Given the description of an element on the screen output the (x, y) to click on. 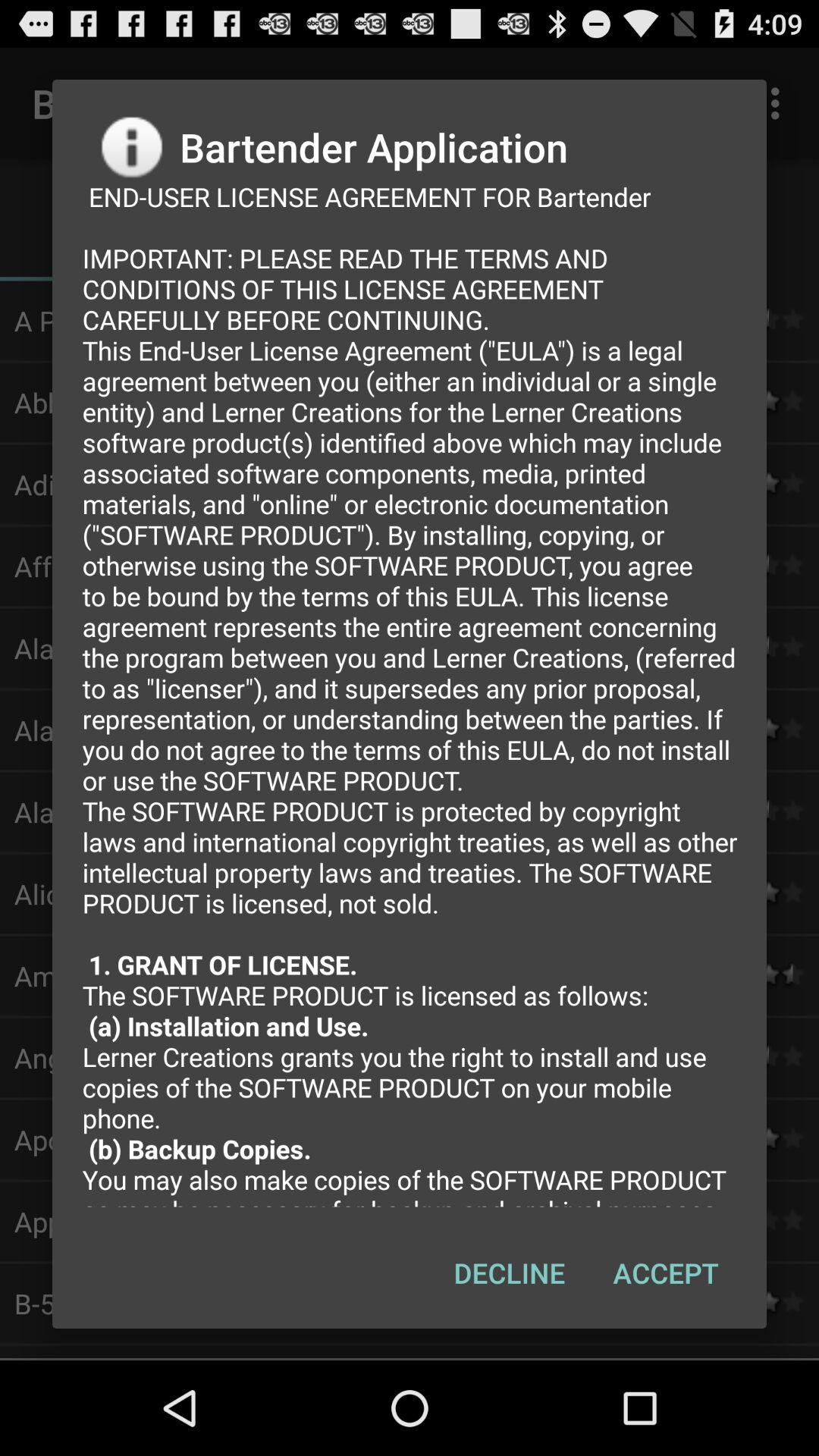
press the button at the bottom (509, 1272)
